Given the description of an element on the screen output the (x, y) to click on. 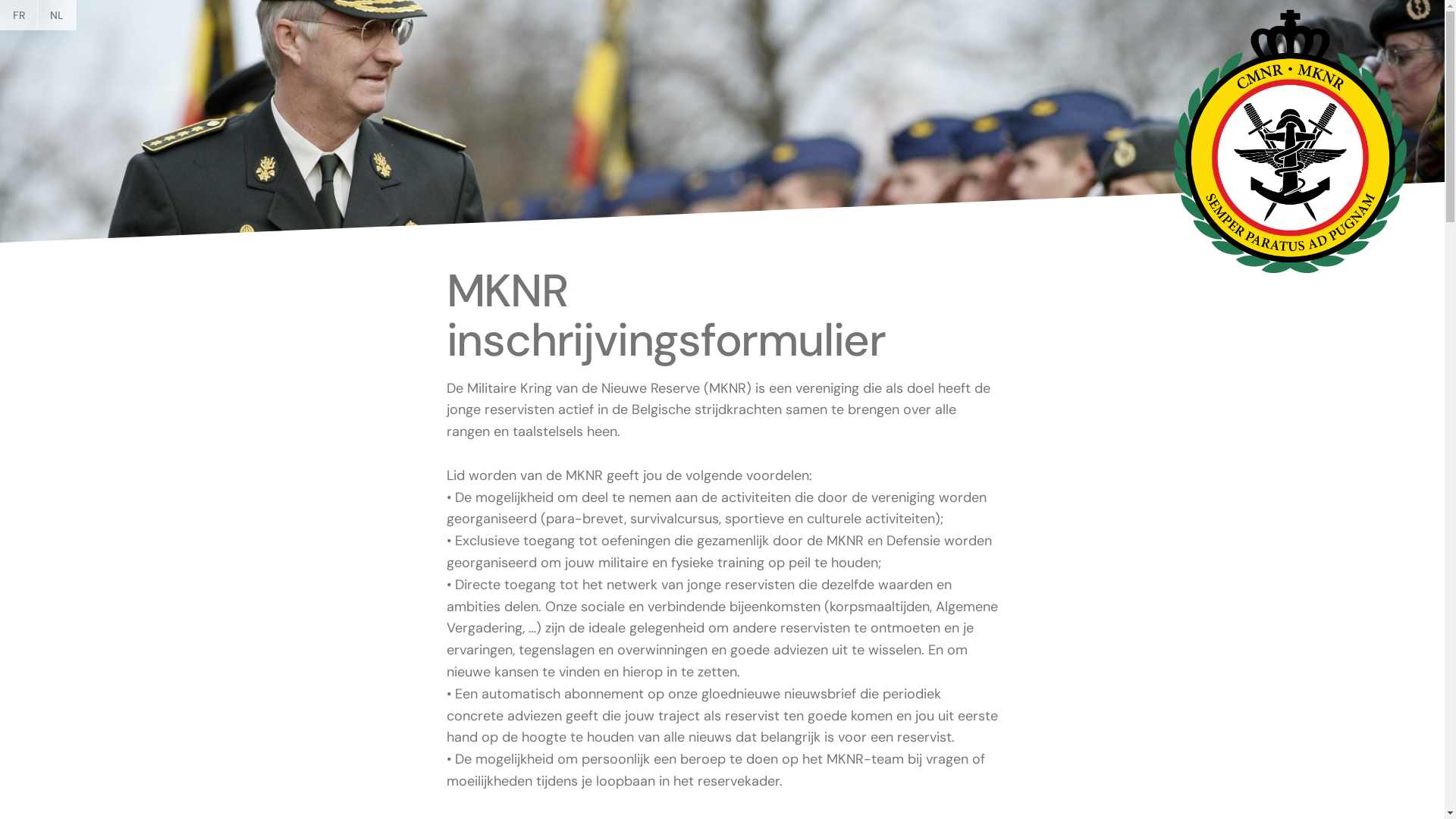
NL Element type: text (56, 15)
FR Element type: text (18, 15)
